Given the description of an element on the screen output the (x, y) to click on. 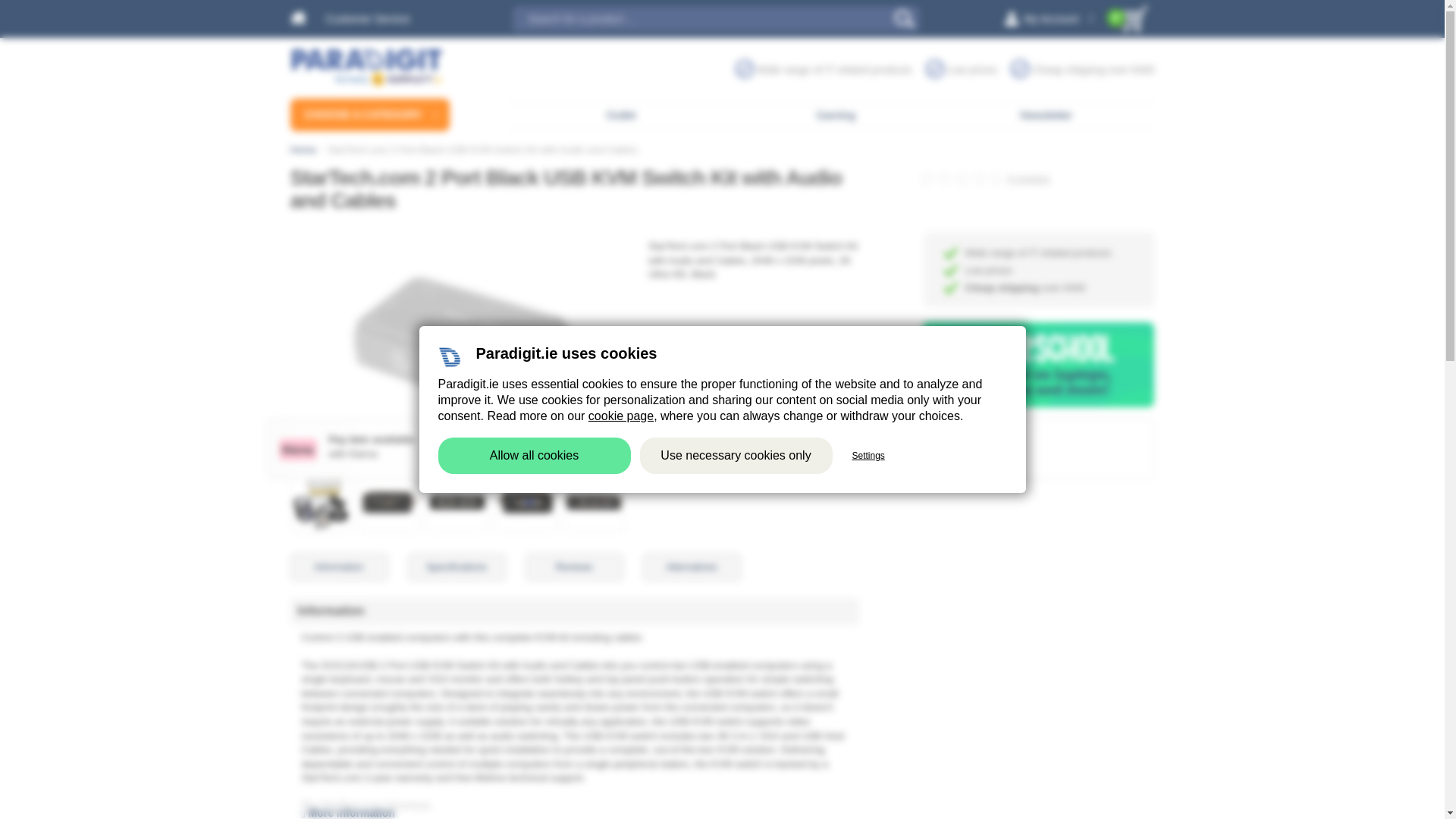
Information (338, 567)
Alternatives (692, 567)
cookie page (620, 415)
Use necessary cookies only (736, 455)
Settings (868, 455)
Reviews (573, 567)
Specifications (456, 567)
Allow all cookies (534, 455)
